Given the description of an element on the screen output the (x, y) to click on. 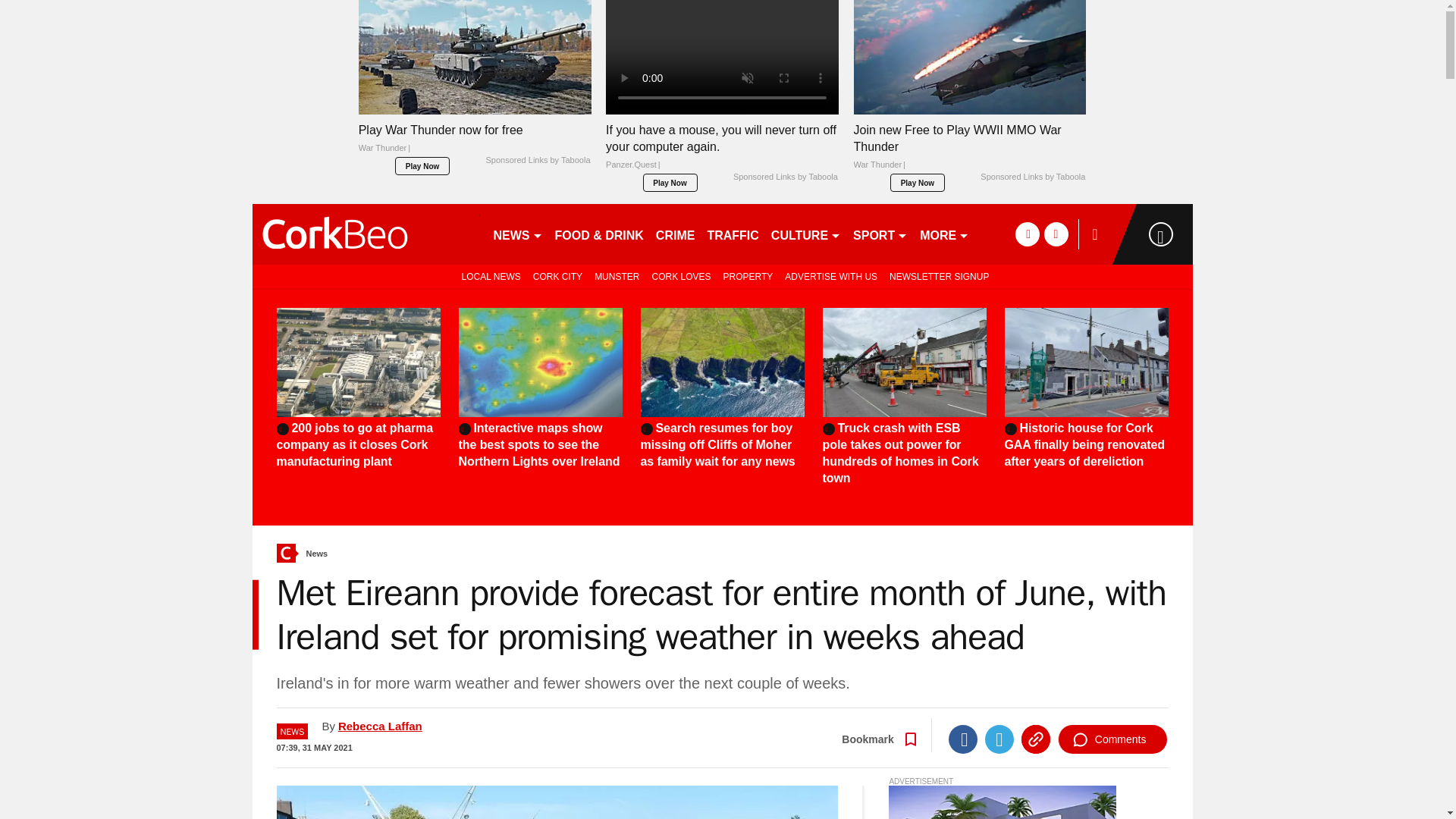
TRAFFIC (732, 233)
Comments (1112, 738)
Sponsored Links by Taboola (536, 160)
NEWS (517, 233)
SPORT (880, 233)
Twitter (999, 738)
twitter (1055, 233)
Play Now (916, 182)
Play War Thunder now for free (474, 143)
corklive (365, 233)
Sponsored Links by Taboola (1031, 176)
Facebook (962, 738)
CULTURE (806, 233)
Play Now (670, 182)
